Given the description of an element on the screen output the (x, y) to click on. 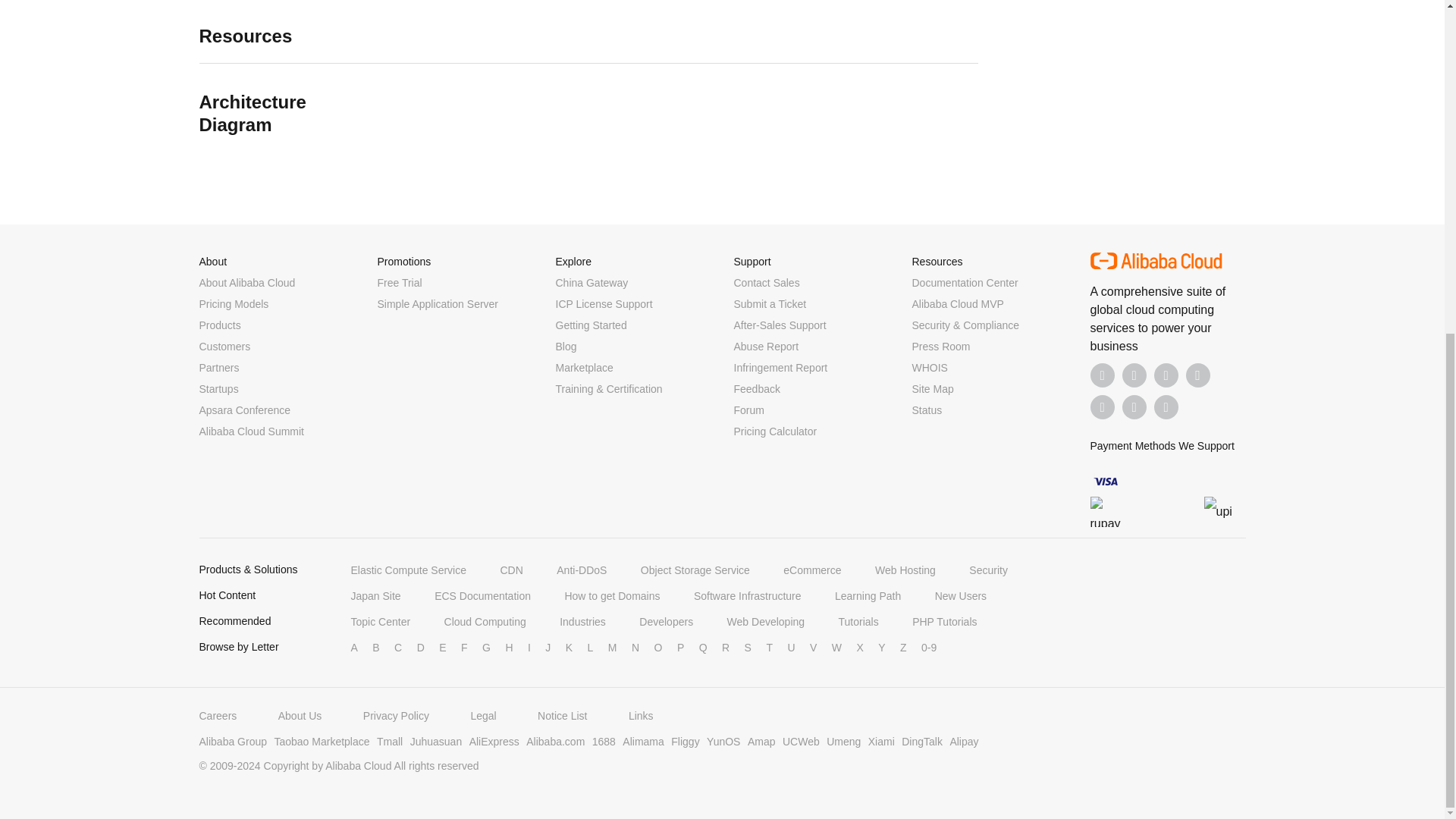
TikTok (1102, 406)
YouTube (1197, 375)
Linkedin (1134, 375)
Facebook (1102, 375)
Call Us Now (1165, 406)
Twitter (1165, 375)
